Given the description of an element on the screen output the (x, y) to click on. 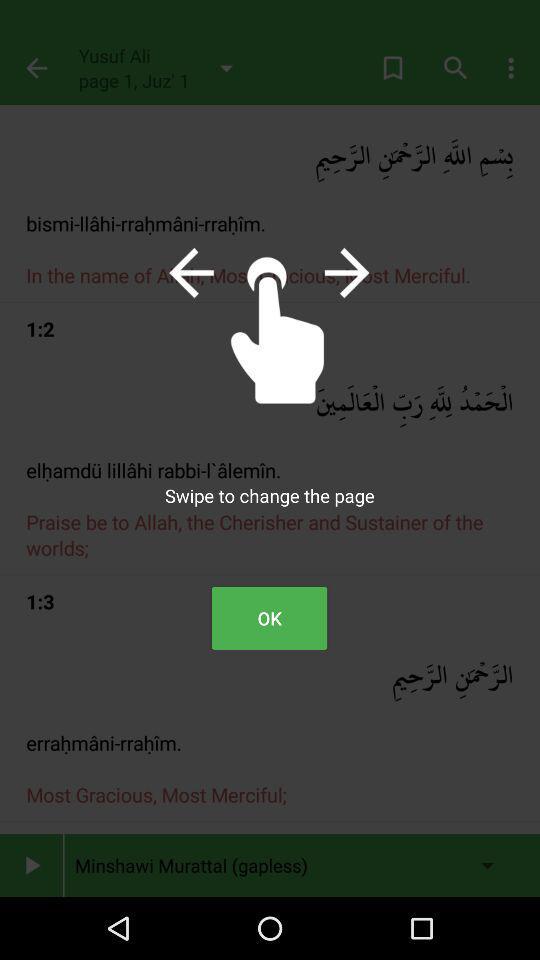
scroll to ok (269, 617)
